Given the description of an element on the screen output the (x, y) to click on. 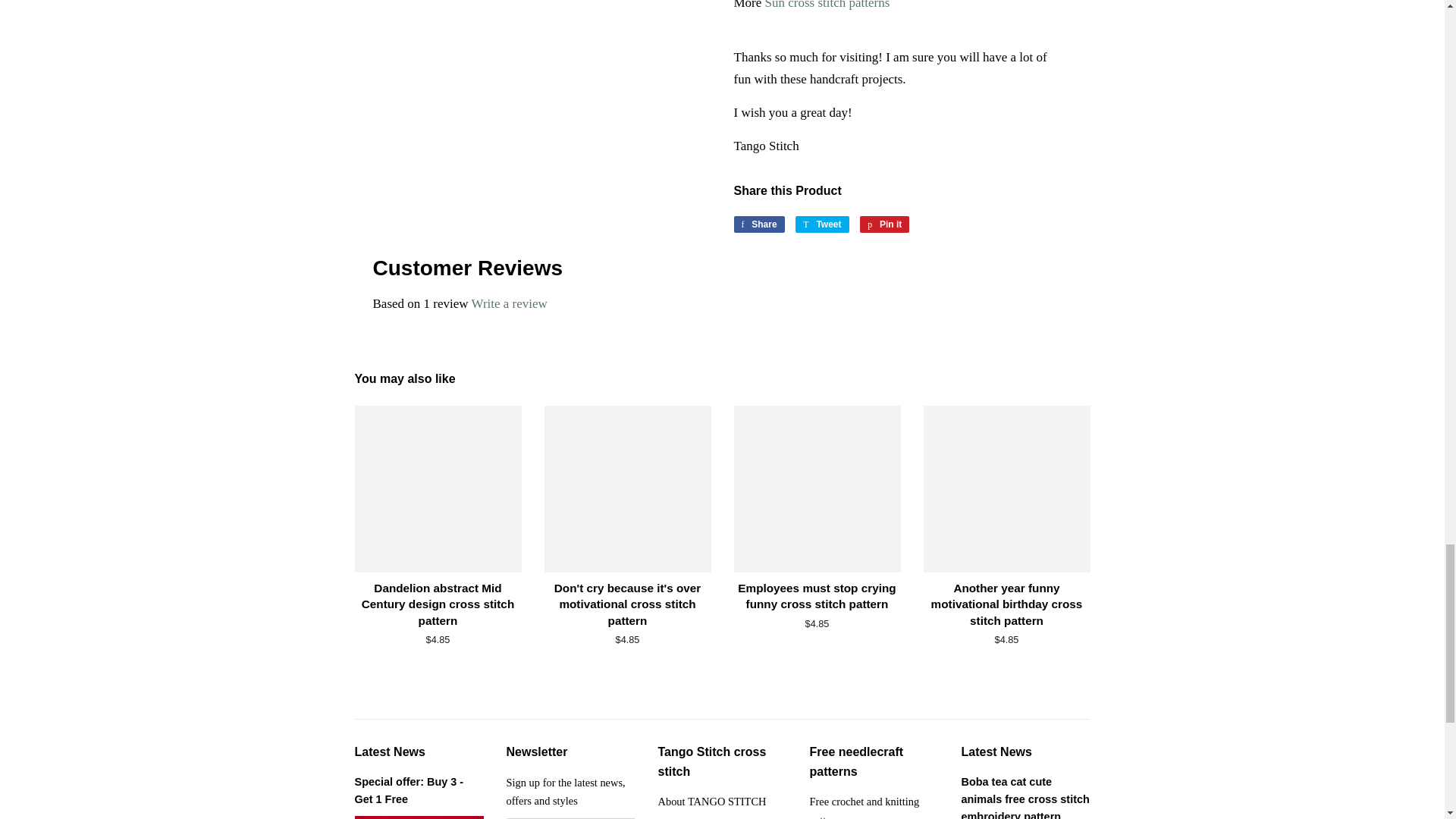
Pin on Pinterest (884, 224)
Share on Facebook (758, 224)
Tweet on Twitter (821, 224)
Sun cross stitch pattern (827, 4)
